Given the description of an element on the screen output the (x, y) to click on. 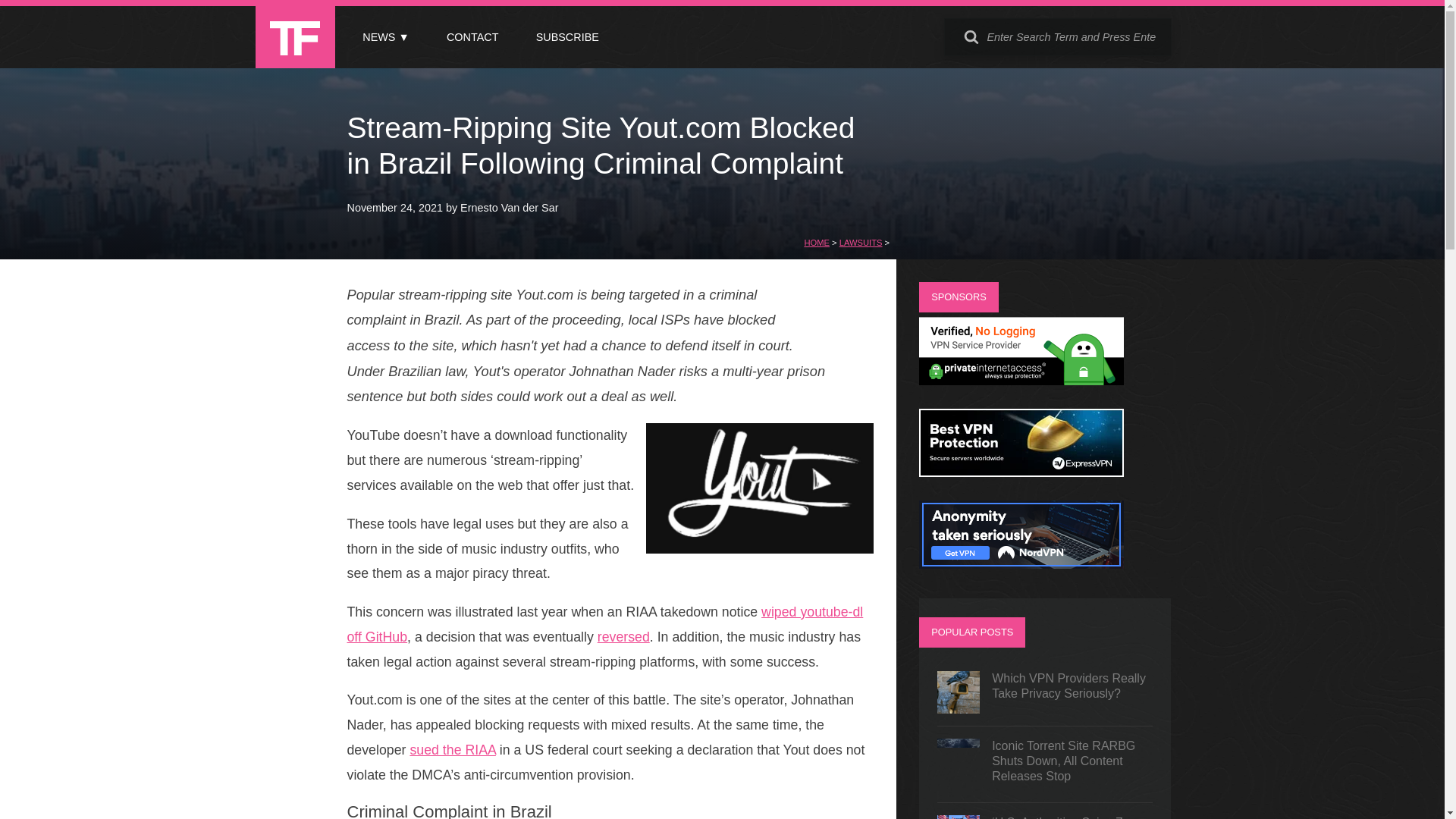
sued the RIAA (452, 749)
ExpressVPN (1021, 472)
Go to the Lawsuits category archives. (861, 242)
HOME (816, 242)
LAWSUITS (861, 242)
SUBSCRIBE (566, 37)
reversed (622, 636)
Private Internet Access (1021, 380)
Ernesto Van der Sar (508, 207)
CONTACT (471, 37)
Go to TorrentFreak. (816, 242)
wiped youtube-dl off GitHub (605, 624)
Which VPN Providers Really Take Privacy Seriously? (1045, 691)
